Given the description of an element on the screen output the (x, y) to click on. 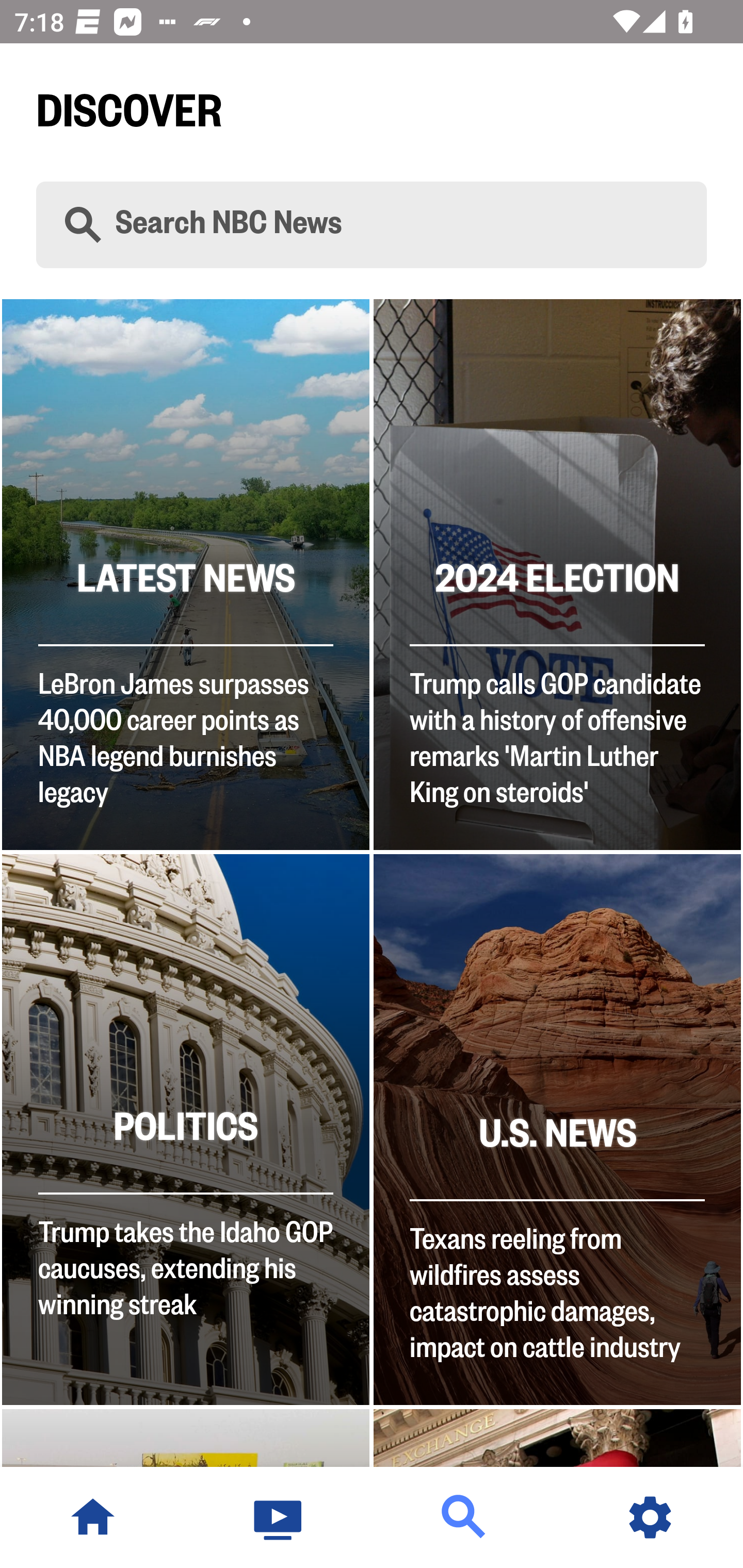
NBC News Home (92, 1517)
Watch (278, 1517)
Settings (650, 1517)
